Given the description of an element on the screen output the (x, y) to click on. 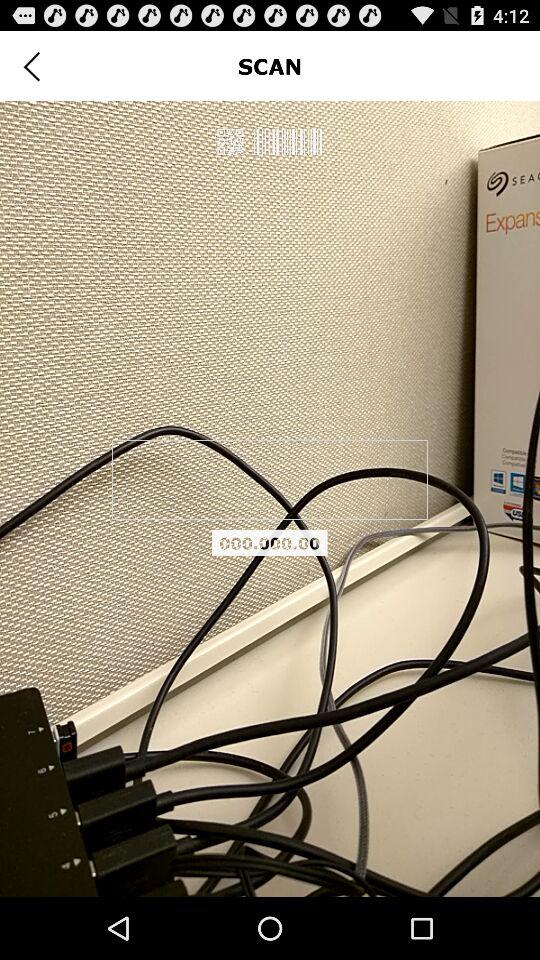
press the icon at the top left corner (31, 66)
